Given the description of an element on the screen output the (x, y) to click on. 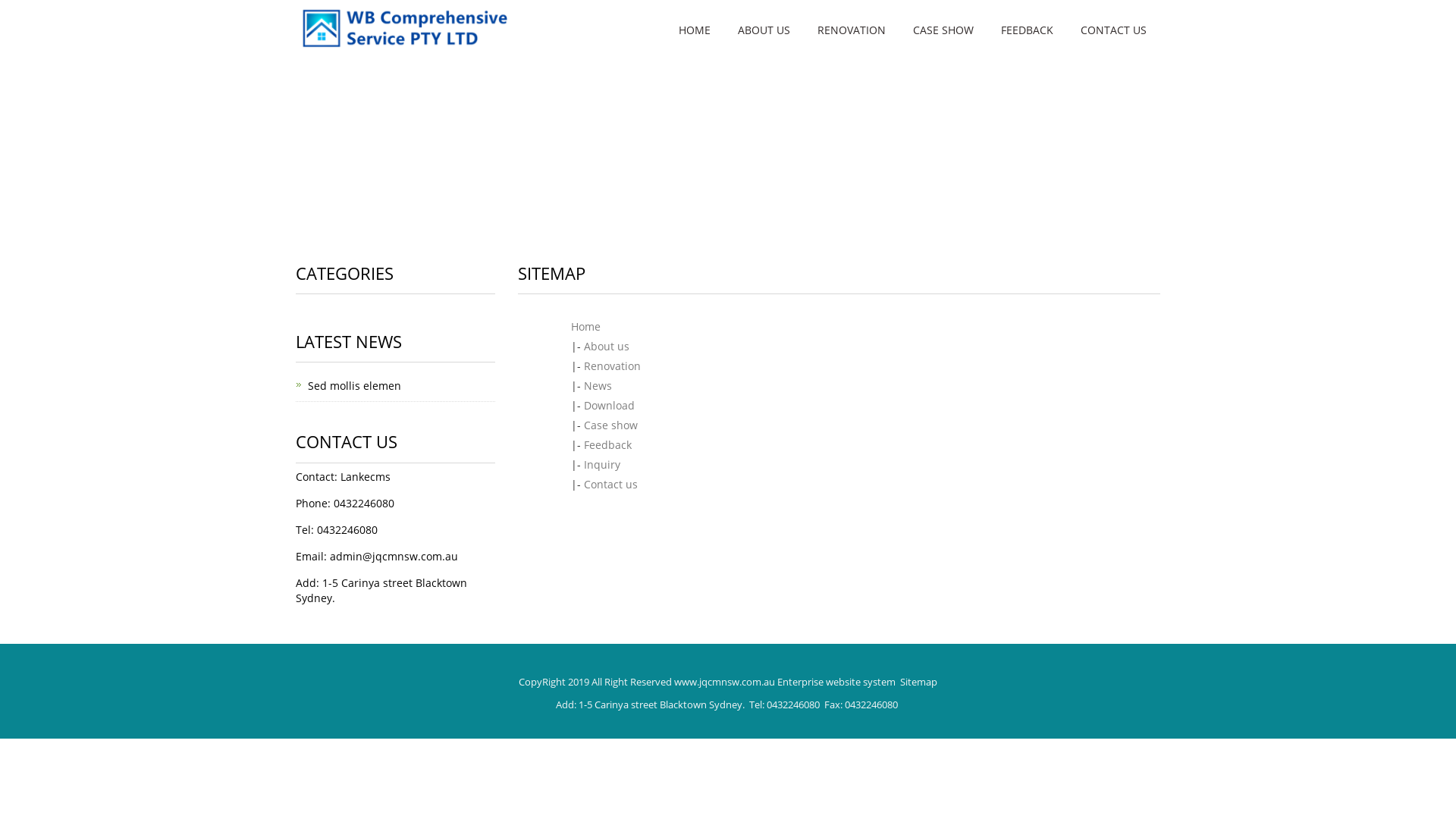
News Element type: text (597, 385)
ABOUT US Element type: text (763, 30)
RENOVATION Element type: text (851, 30)
Sitemap Element type: text (918, 681)
CASE SHOW Element type: text (943, 30)
About us Element type: text (606, 345)
Case show Element type: text (610, 424)
Download Element type: text (608, 405)
Home Element type: text (584, 326)
Inquiry Element type: text (601, 464)
Sed mollis elemen Element type: text (354, 385)
CONTACT US Element type: text (1113, 30)
Contact us Element type: text (610, 483)
FEEDBACK Element type: text (1026, 30)
HOME Element type: text (694, 30)
Feedback Element type: text (607, 444)
Renovation Element type: text (611, 365)
